Given the description of an element on the screen output the (x, y) to click on. 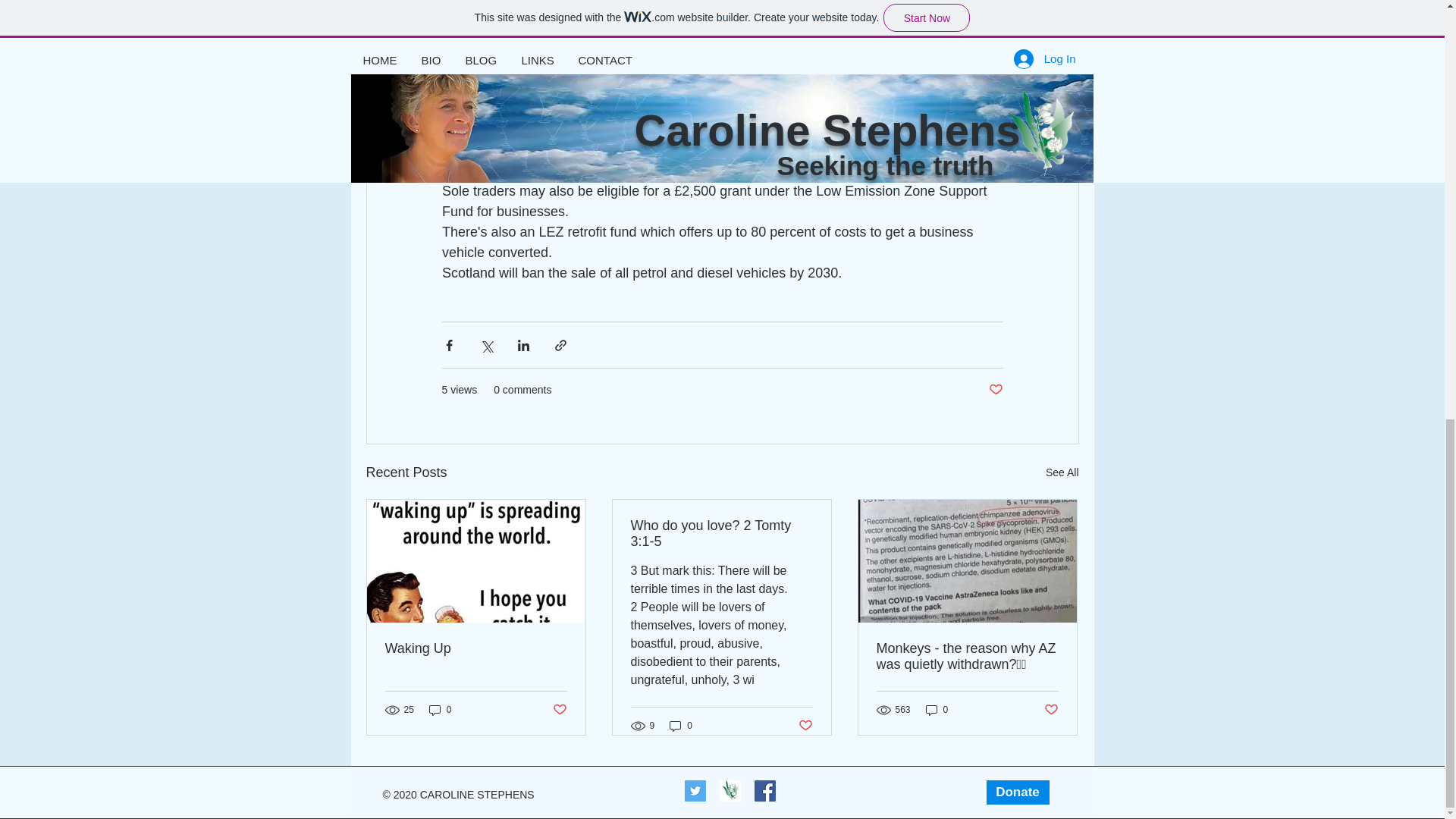
Post not marked as liked (995, 390)
0 (681, 725)
See All (1061, 472)
Post not marked as liked (804, 725)
Waking Up (476, 648)
Post not marked as liked (1050, 709)
0 (937, 709)
Post not marked as liked (558, 709)
Who do you love? 2 Tomty 3:1-5 (721, 533)
Donate (1016, 792)
